Given the description of an element on the screen output the (x, y) to click on. 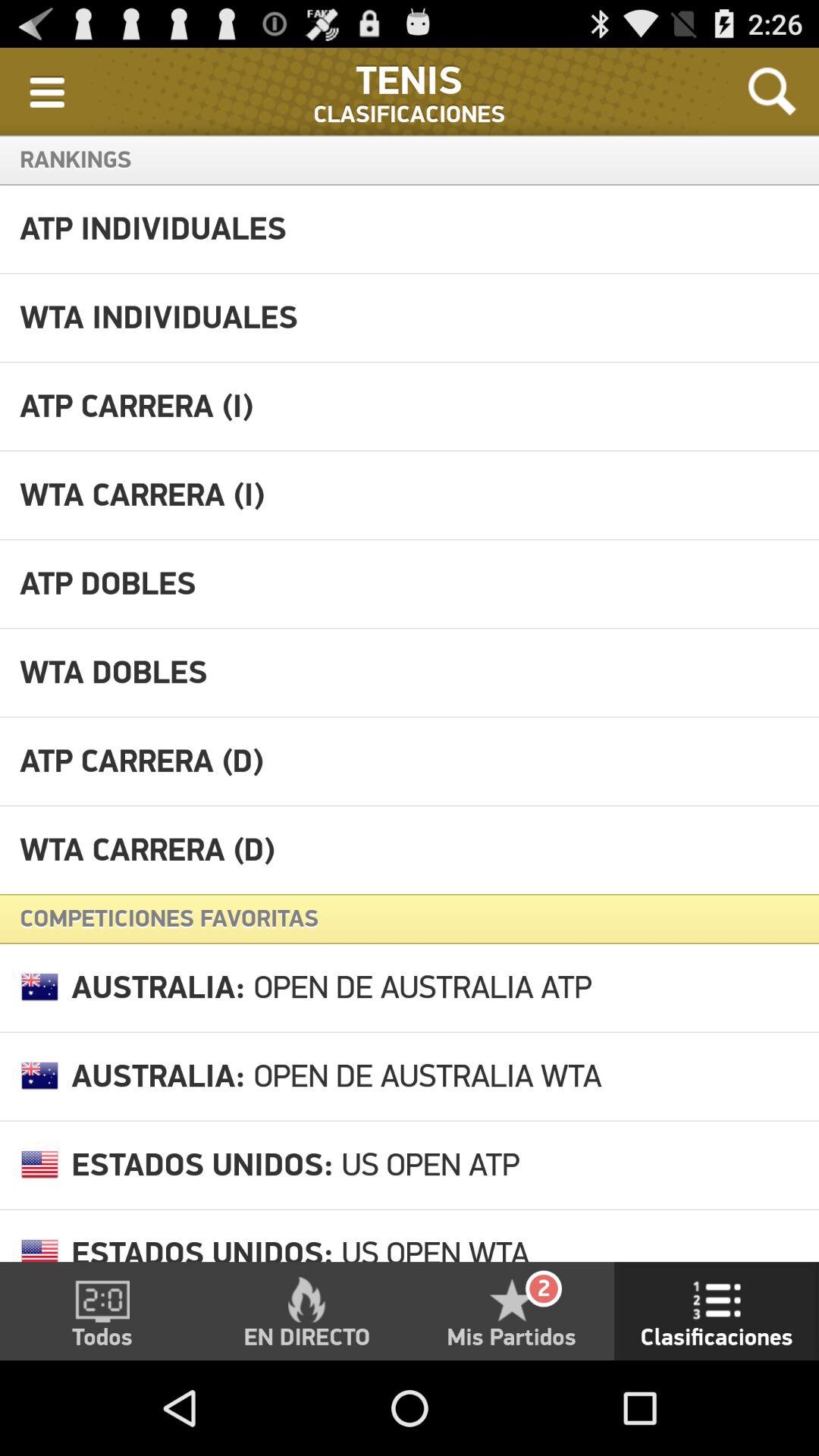
select icon to the left of the clasificaciones (46, 91)
